Given the description of an element on the screen output the (x, y) to click on. 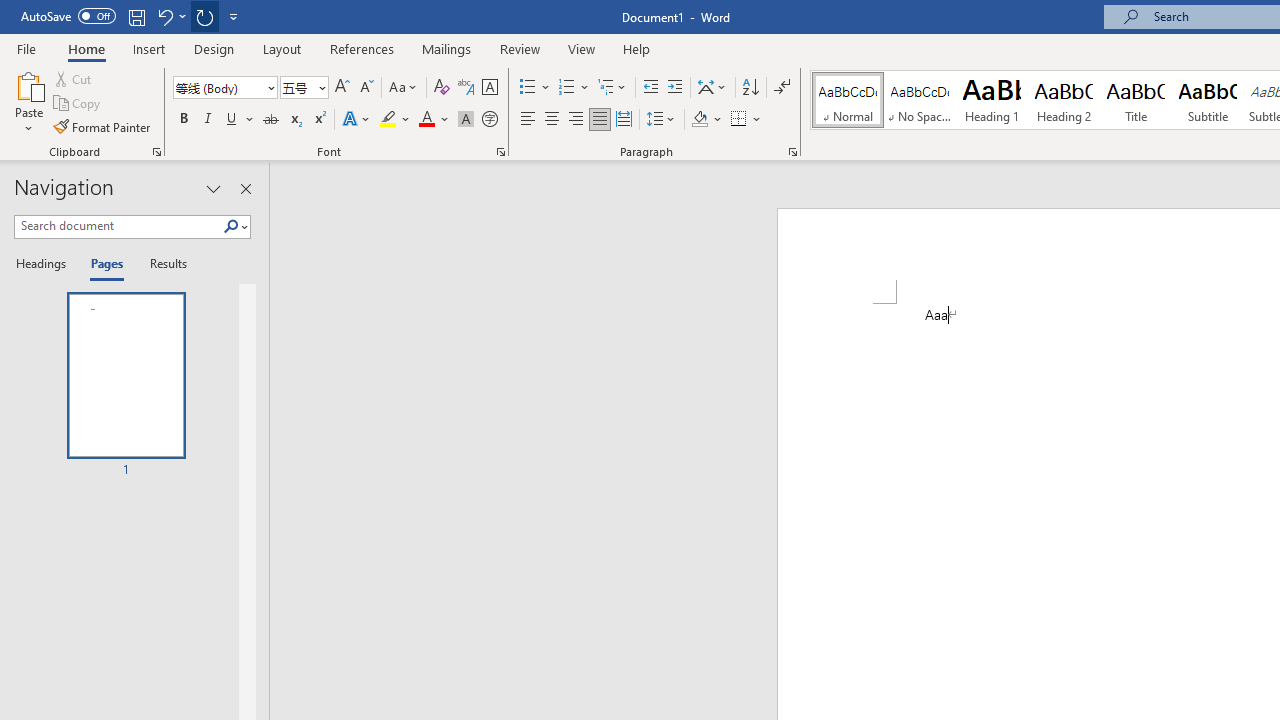
Font Size (304, 87)
Undo Style (170, 15)
Review (520, 48)
Subscript (294, 119)
Numbering (573, 87)
Numbering (566, 87)
Phonetic Guide... (465, 87)
Bullets (527, 87)
Insert (149, 48)
Underline (232, 119)
Paste (28, 102)
Layout (282, 48)
Borders (739, 119)
Title (1135, 100)
